Given the description of an element on the screen output the (x, y) to click on. 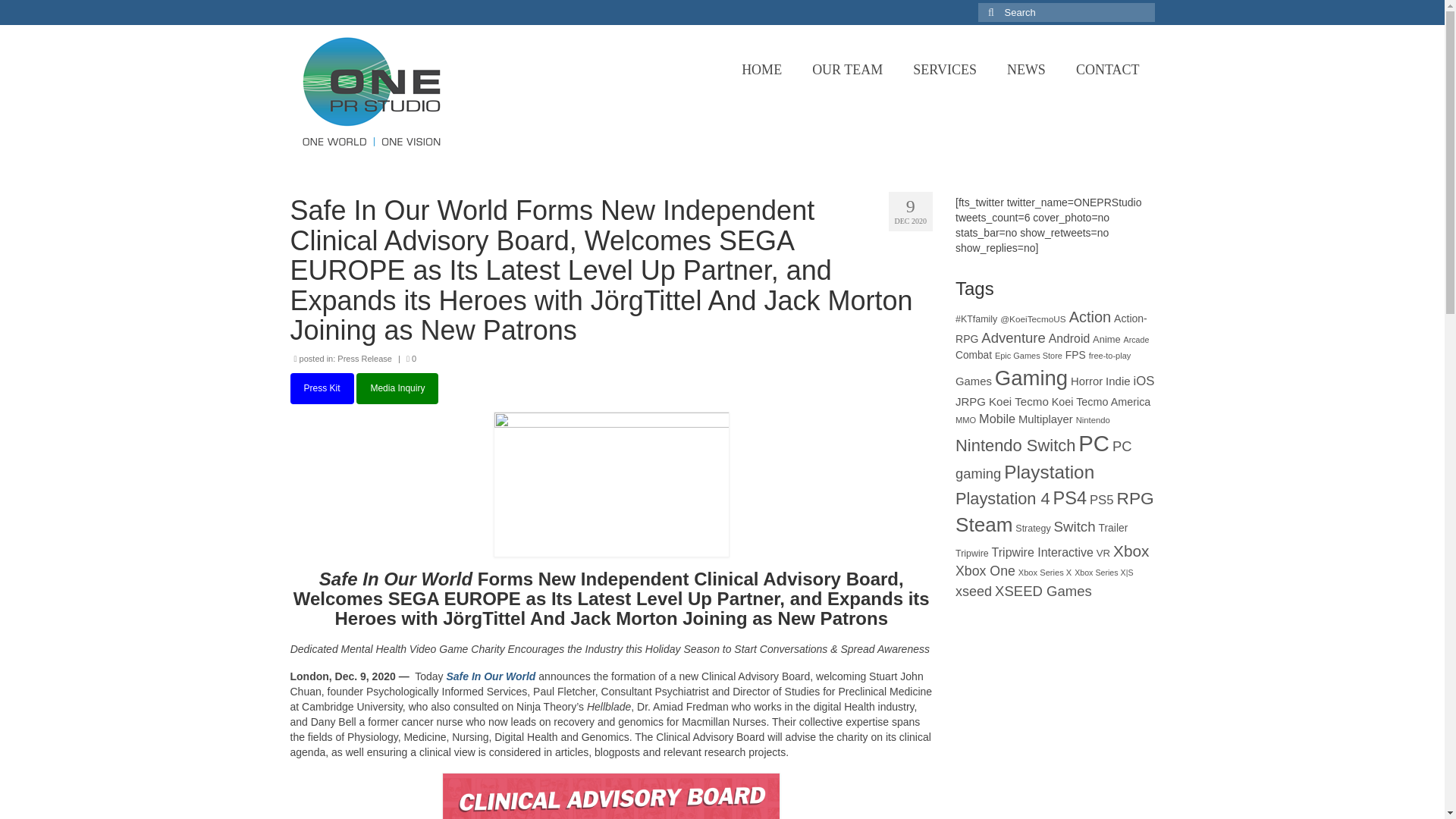
Media Inquiry (397, 388)
Android (1068, 338)
Press Kit (321, 388)
HOME (761, 69)
SERVICES (944, 69)
Action-RPG (1051, 328)
Action (1090, 316)
CONTACT (1107, 69)
NEWS (1026, 69)
Safe In Our World (490, 676)
OUR TEAM (847, 69)
Press Release (364, 358)
Adventure (1013, 337)
